Given the description of an element on the screen output the (x, y) to click on. 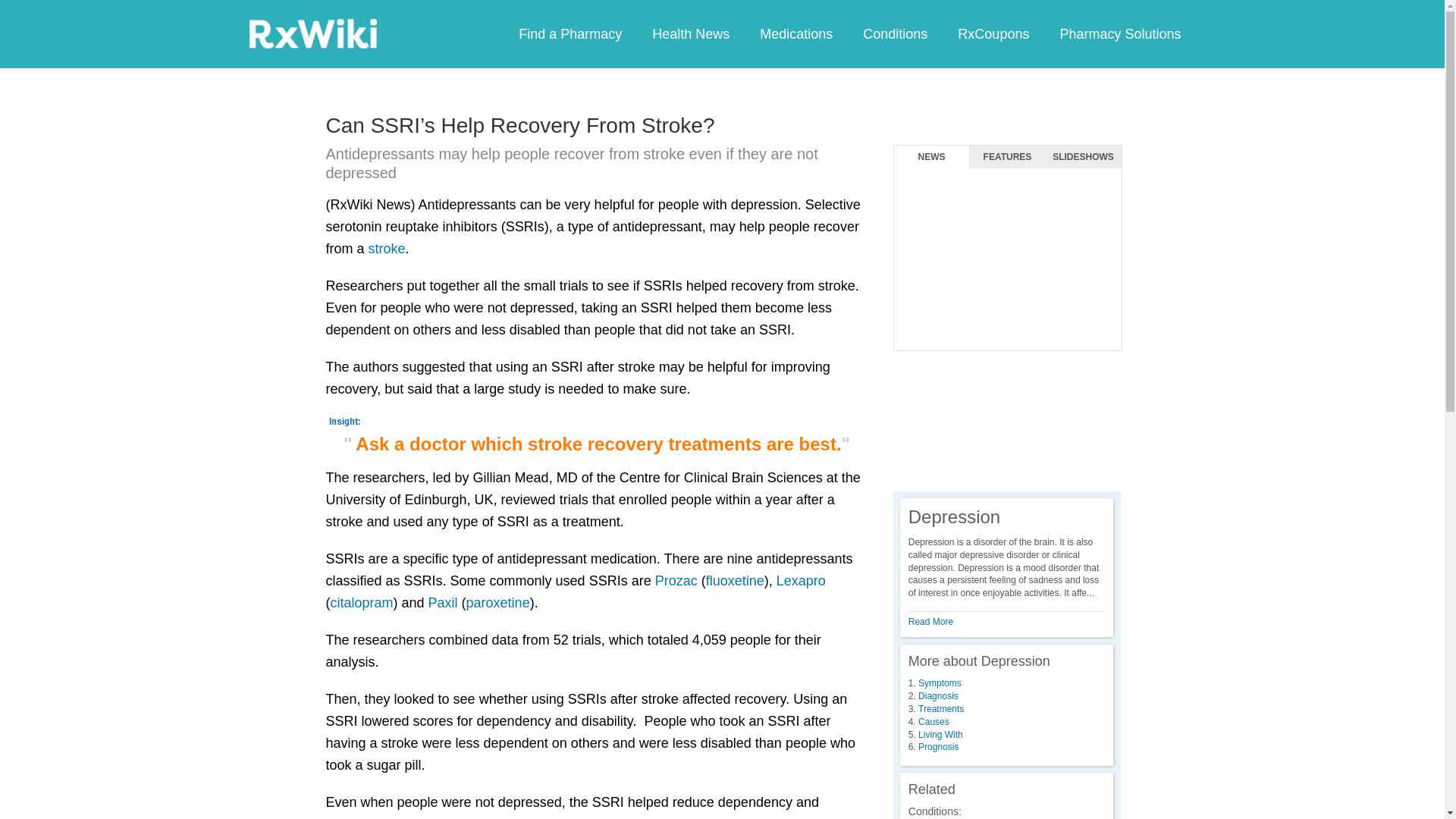
Health News (690, 33)
SLIDESHOWS (1083, 156)
Conditions (894, 33)
RxCoupons (992, 33)
paroxetine (497, 602)
RxWiki (312, 32)
Medications (795, 33)
FEATURES (1007, 156)
stroke (387, 248)
Prozac (676, 580)
